Given the description of an element on the screen output the (x, y) to click on. 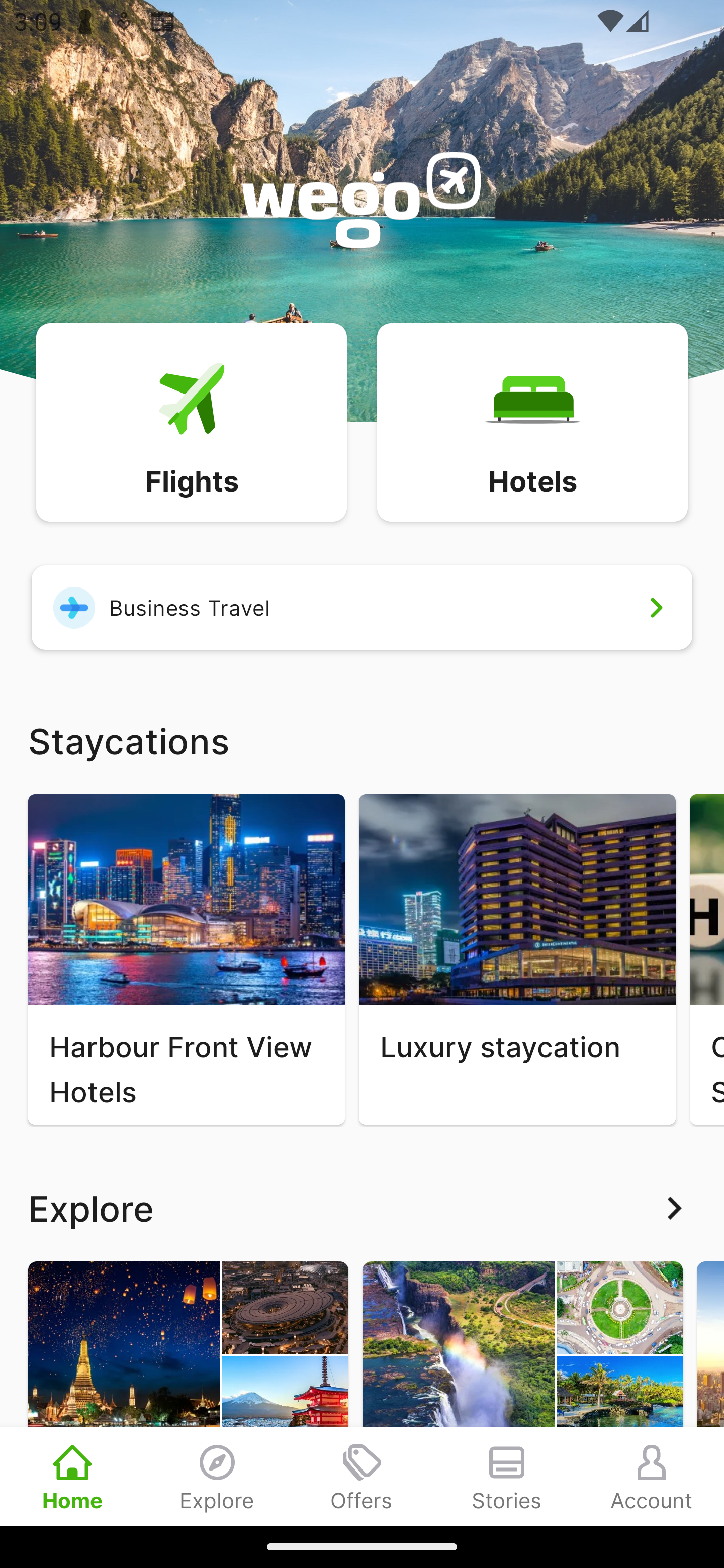
Flights (191, 420)
Hotels (532, 420)
Business Travel (361, 607)
Staycations (362, 739)
Harbour Front View Hotels (186, 958)
Luxury staycation (517, 958)
Explore (362, 1207)
Popular Destinations (188, 1392)
Visa-free Countries (522, 1392)
Explore (216, 1475)
Offers (361, 1475)
Stories (506, 1475)
Account (651, 1475)
